Given the description of an element on the screen output the (x, y) to click on. 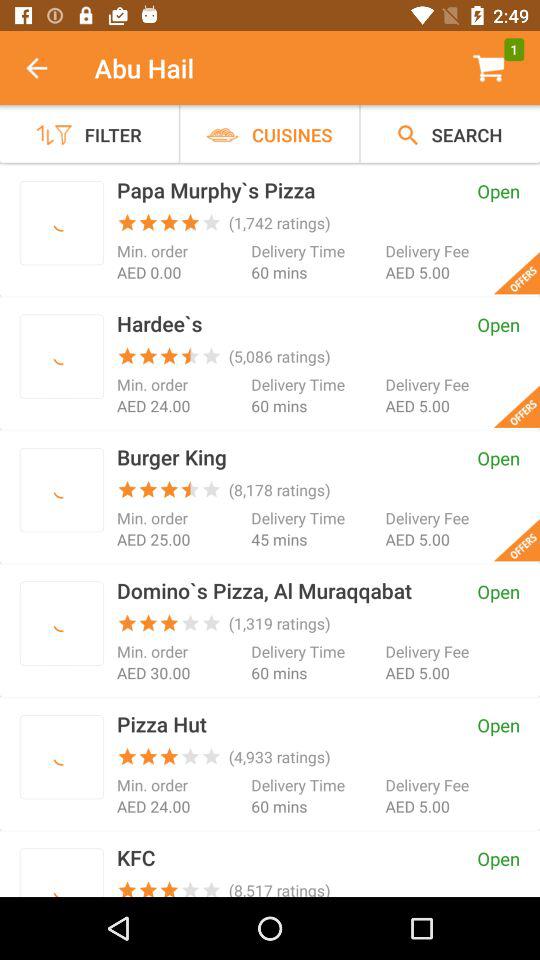
order here (61, 489)
